Given the description of an element on the screen output the (x, y) to click on. 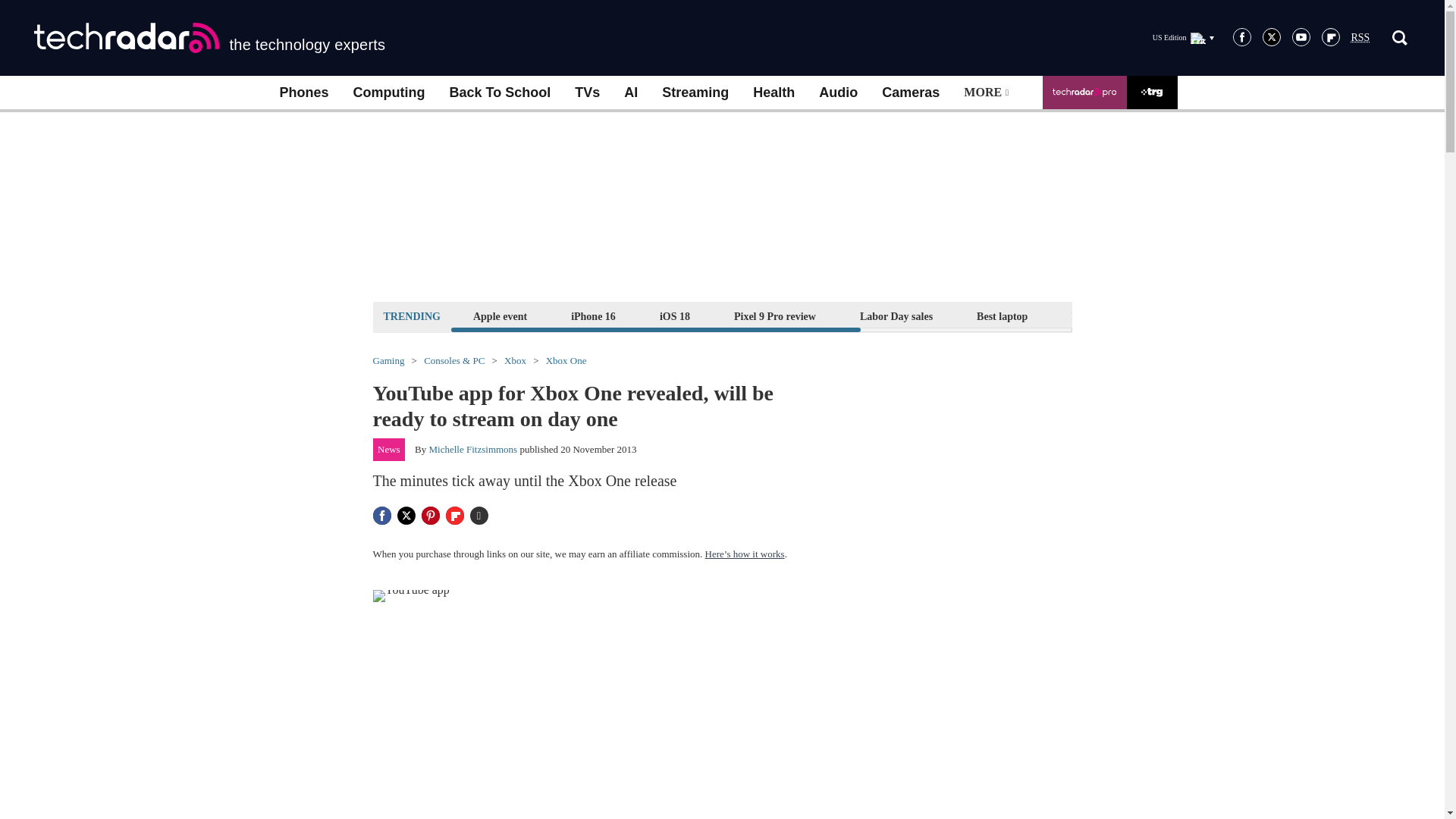
Audio (837, 92)
Phones (303, 92)
Health (773, 92)
US Edition (1182, 37)
AI (630, 92)
Computing (389, 92)
Really Simple Syndication (1360, 37)
TVs (586, 92)
the technology experts (209, 38)
Streaming (695, 92)
